Given the description of an element on the screen output the (x, y) to click on. 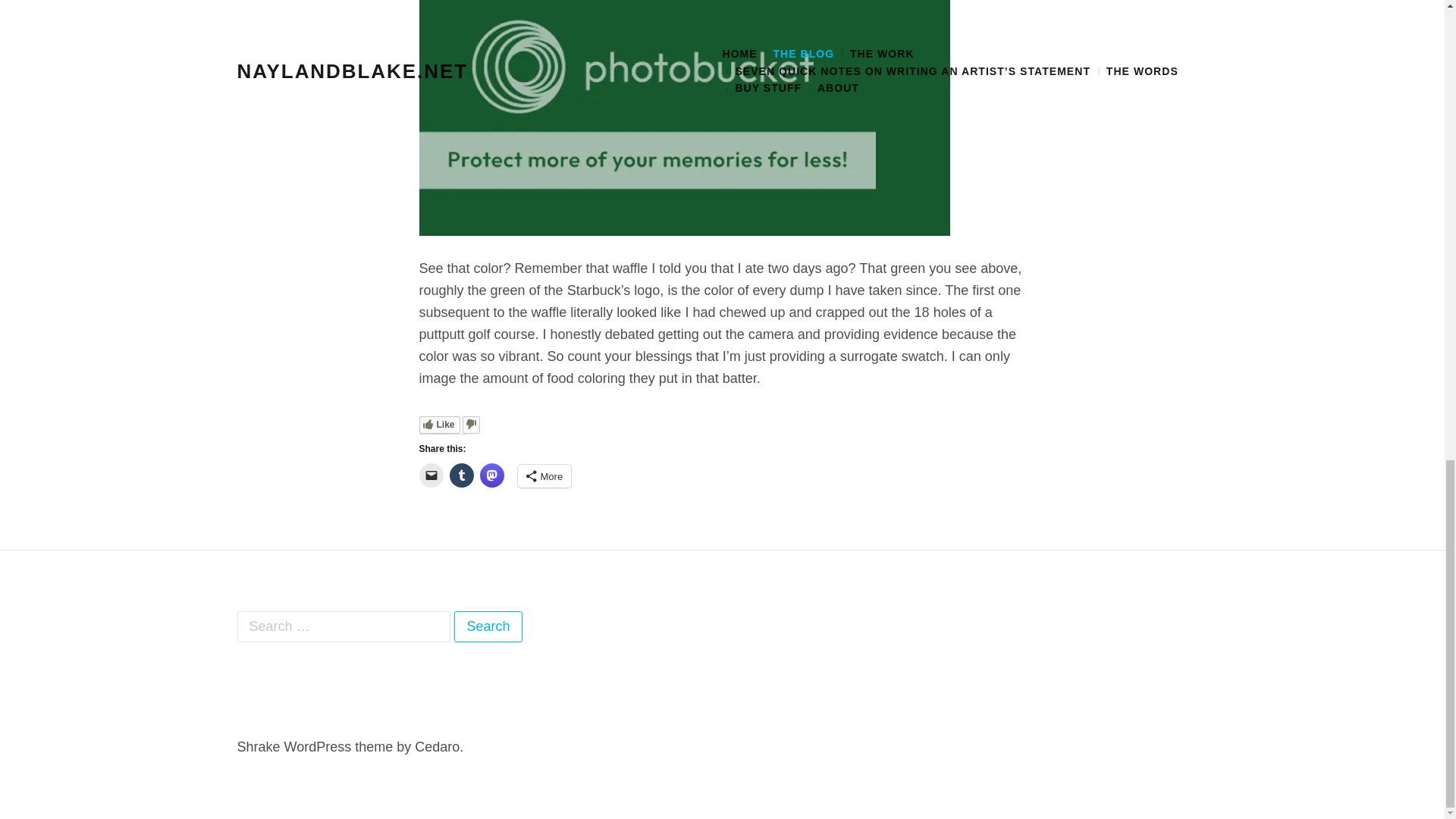
Click to share on Tumblr (460, 475)
Click to share on Mastodon (491, 475)
Search (487, 626)
Click to email a link to a friend (430, 475)
More (543, 476)
Search (487, 626)
Search (487, 626)
Shrake WordPress theme (314, 746)
